Given the description of an element on the screen output the (x, y) to click on. 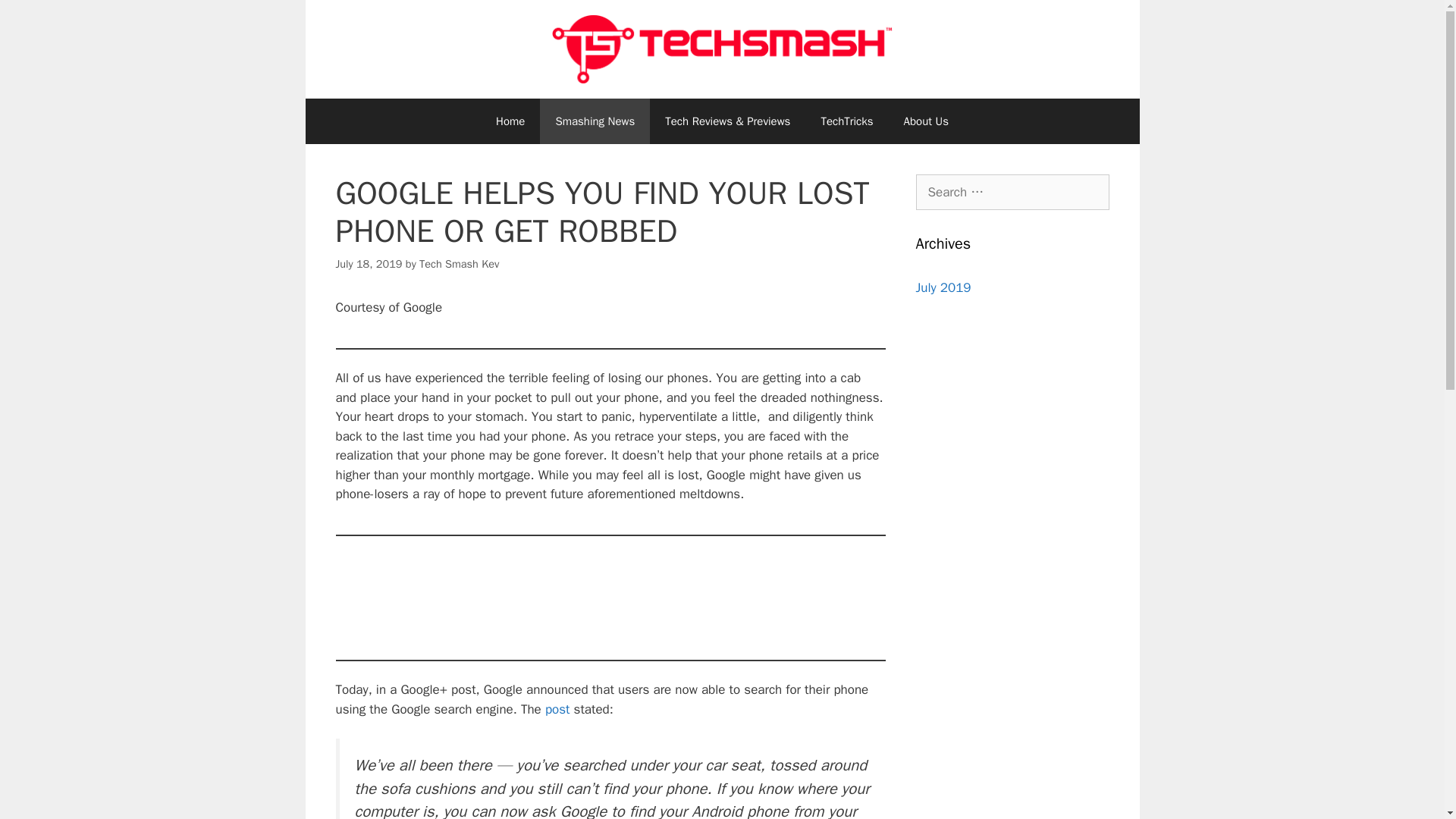
July 2019 (943, 287)
View all posts by Tech Smash Kev (459, 264)
Search for: (1012, 192)
About Us (925, 121)
Search (35, 18)
TechTricks (846, 121)
Home (510, 121)
Smashing News (594, 121)
Tech Smash Kev (459, 264)
post (557, 709)
